Given the description of an element on the screen output the (x, y) to click on. 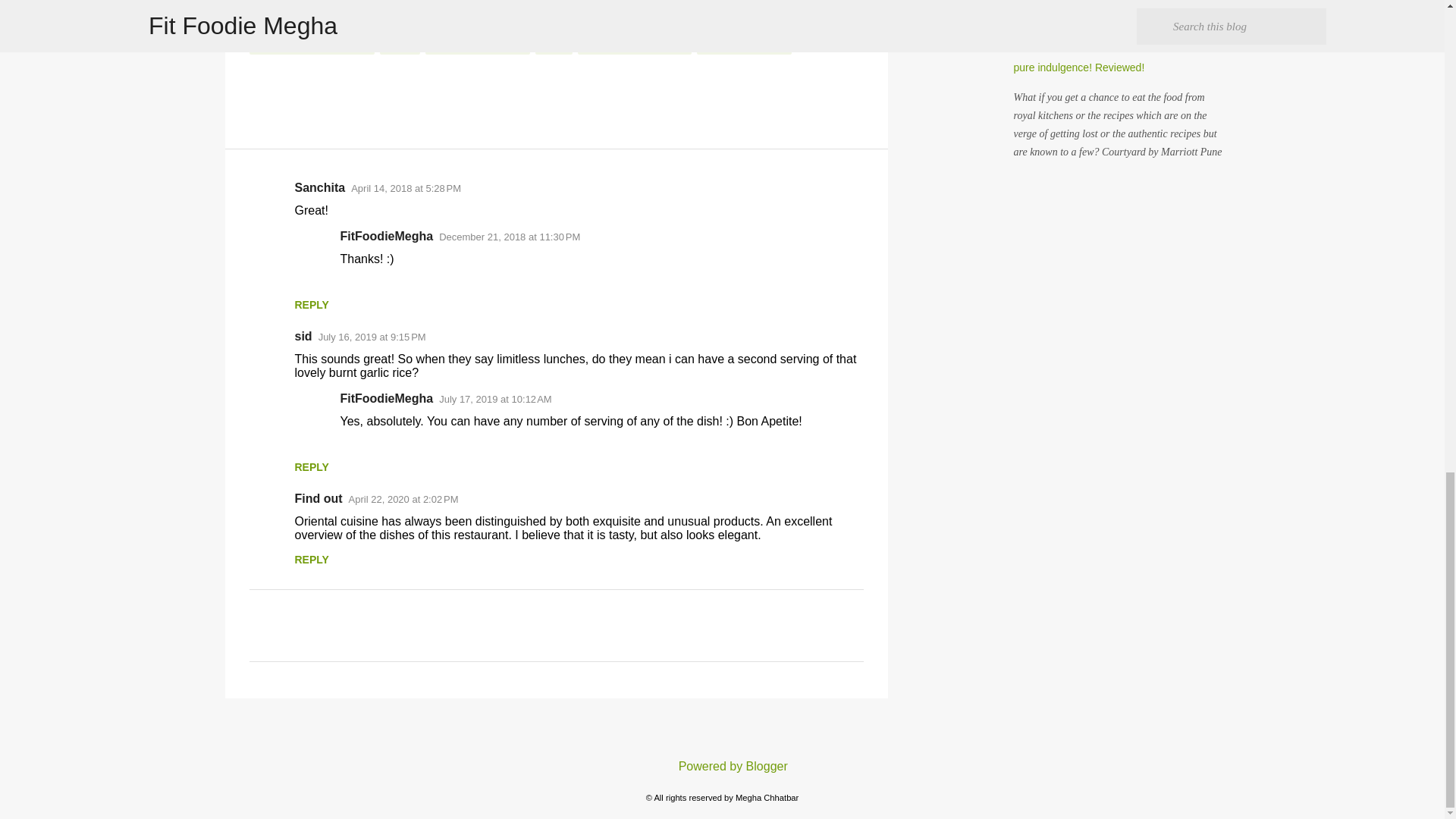
FOOD BLOGGER (706, 23)
Email Post (257, 5)
PUNE (553, 45)
UNLIMITED LUNCH (744, 45)
FOOD BLOGGER IN PUNE (311, 45)
LIMITLESS LUNCHES (477, 45)
GONG (400, 45)
FitFoodieMegha (385, 236)
PUNE FOOD BLOGGER (634, 45)
ASIAN CUISINE (287, 23)
ASIAN FOOD IN BANER (389, 23)
REPLY (311, 304)
BANER (474, 23)
